Given the description of an element on the screen output the (x, y) to click on. 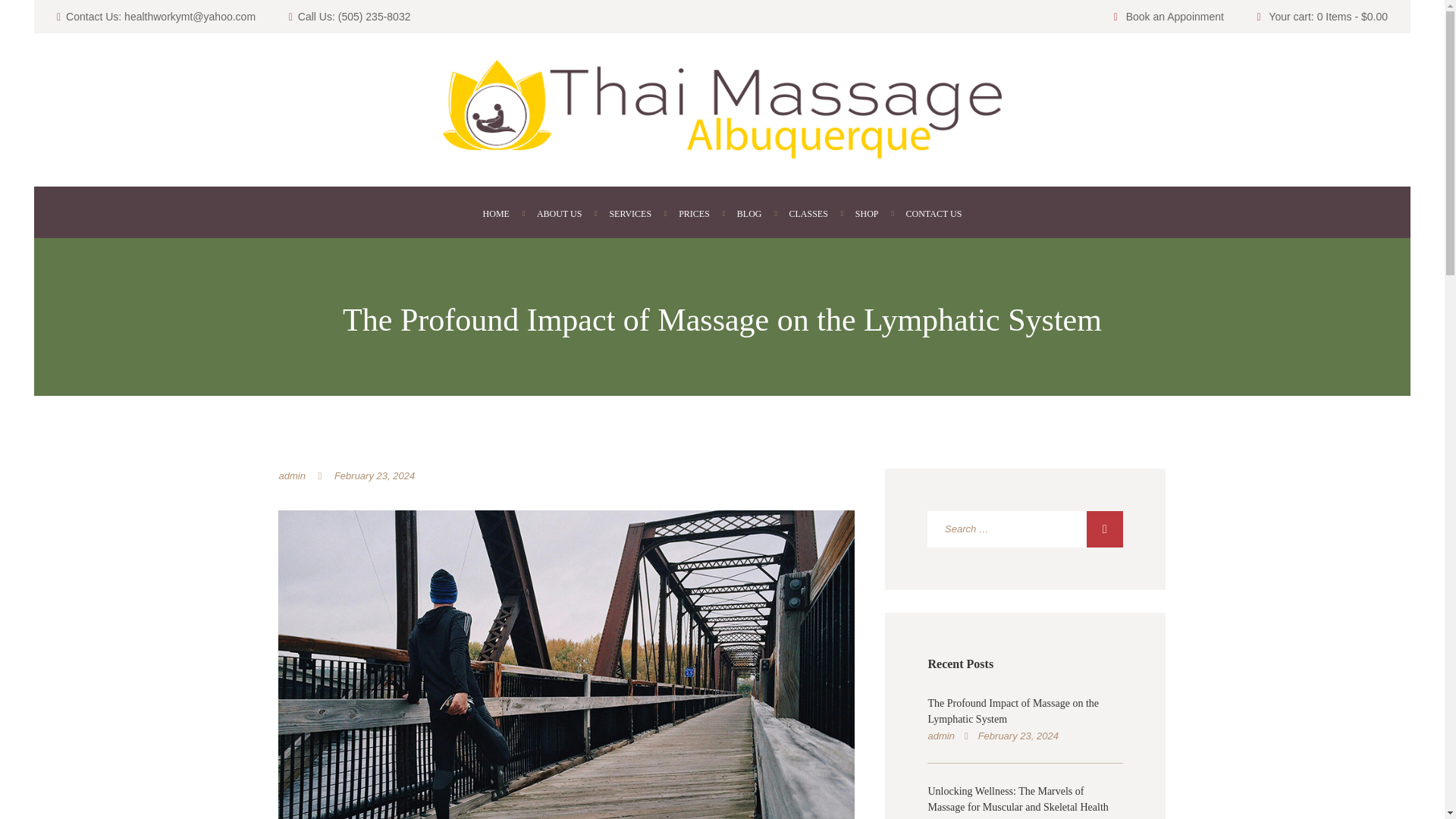
BLOG (749, 214)
SERVICES (630, 214)
SHOP (866, 214)
Search for: (1024, 529)
CONTACT US (933, 214)
Book an Appoinment (1174, 16)
HOME (495, 214)
PRICES (694, 214)
CLASSES (807, 214)
ABOUT US (558, 214)
